Given the description of an element on the screen output the (x, y) to click on. 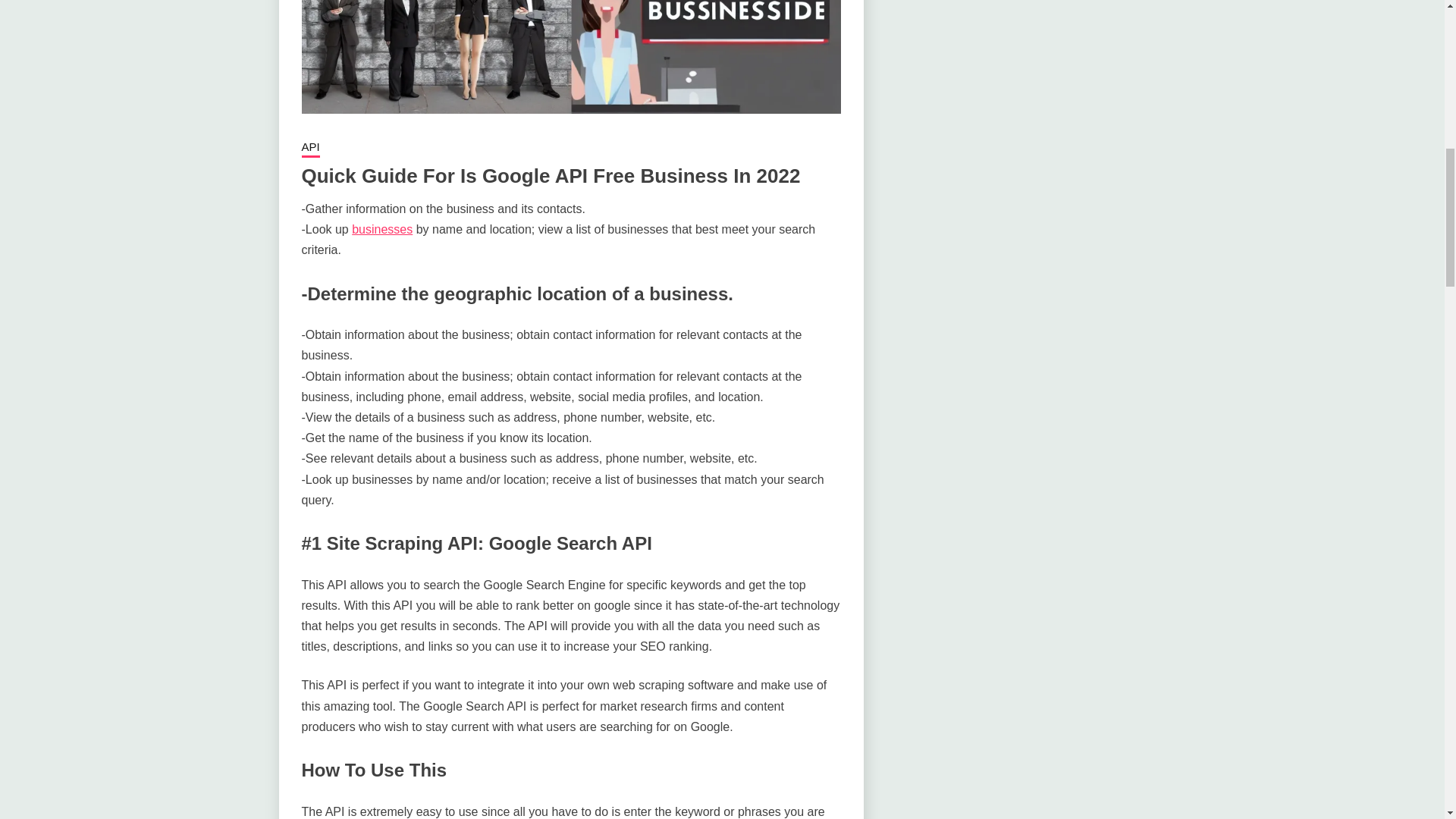
businesses (382, 228)
API (310, 148)
